Given the description of an element on the screen output the (x, y) to click on. 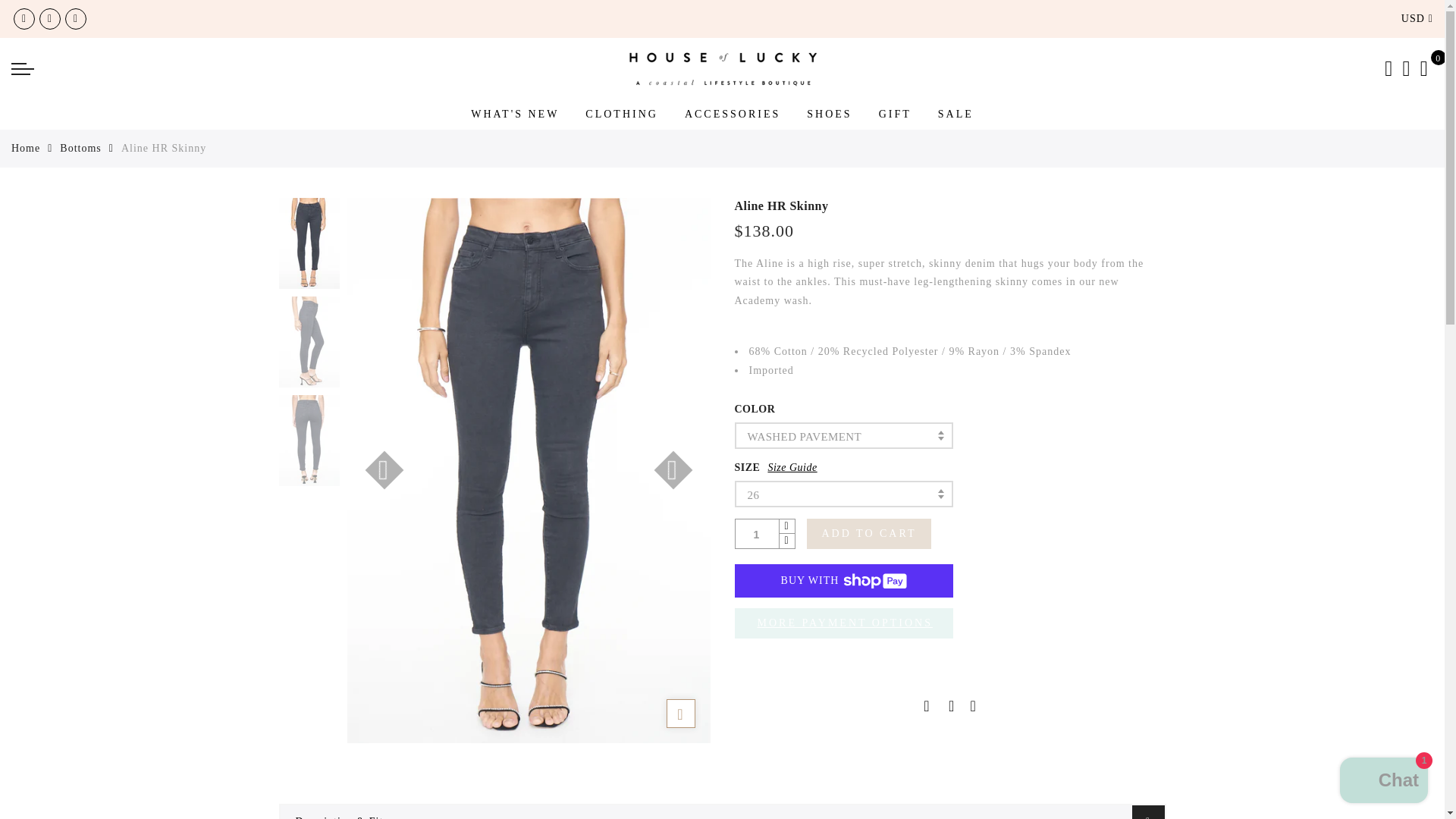
1 (756, 533)
Qty (756, 533)
Shopify online store chat (1383, 781)
